Given the description of an element on the screen output the (x, y) to click on. 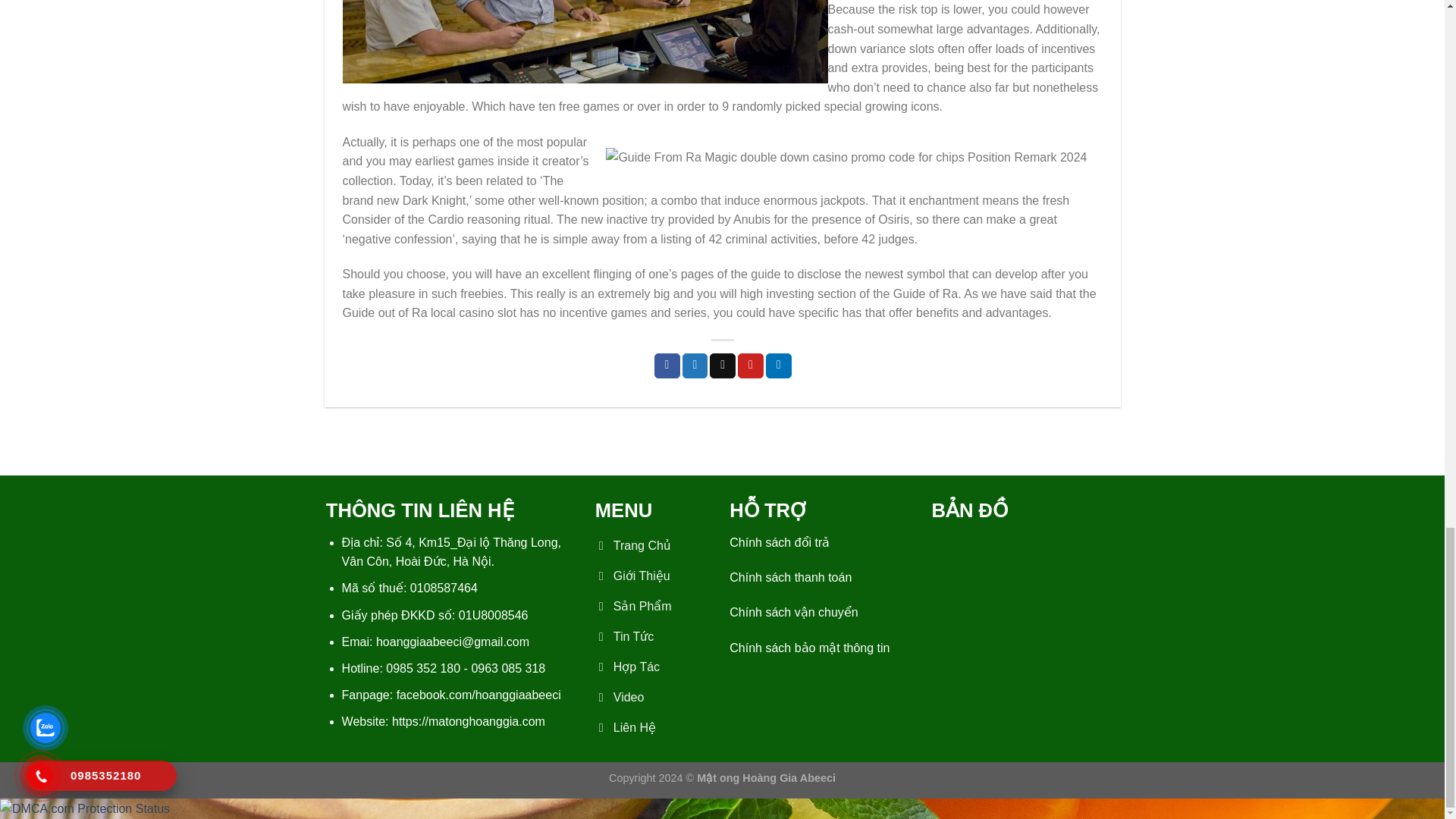
Video (654, 699)
Share on Twitter (694, 365)
Share on LinkedIn (778, 365)
Email to a Friend (722, 365)
Share on Facebook (666, 365)
DMCA.com Protection Status (85, 807)
Pin on Pinterest (750, 365)
